Given the description of an element on the screen output the (x, y) to click on. 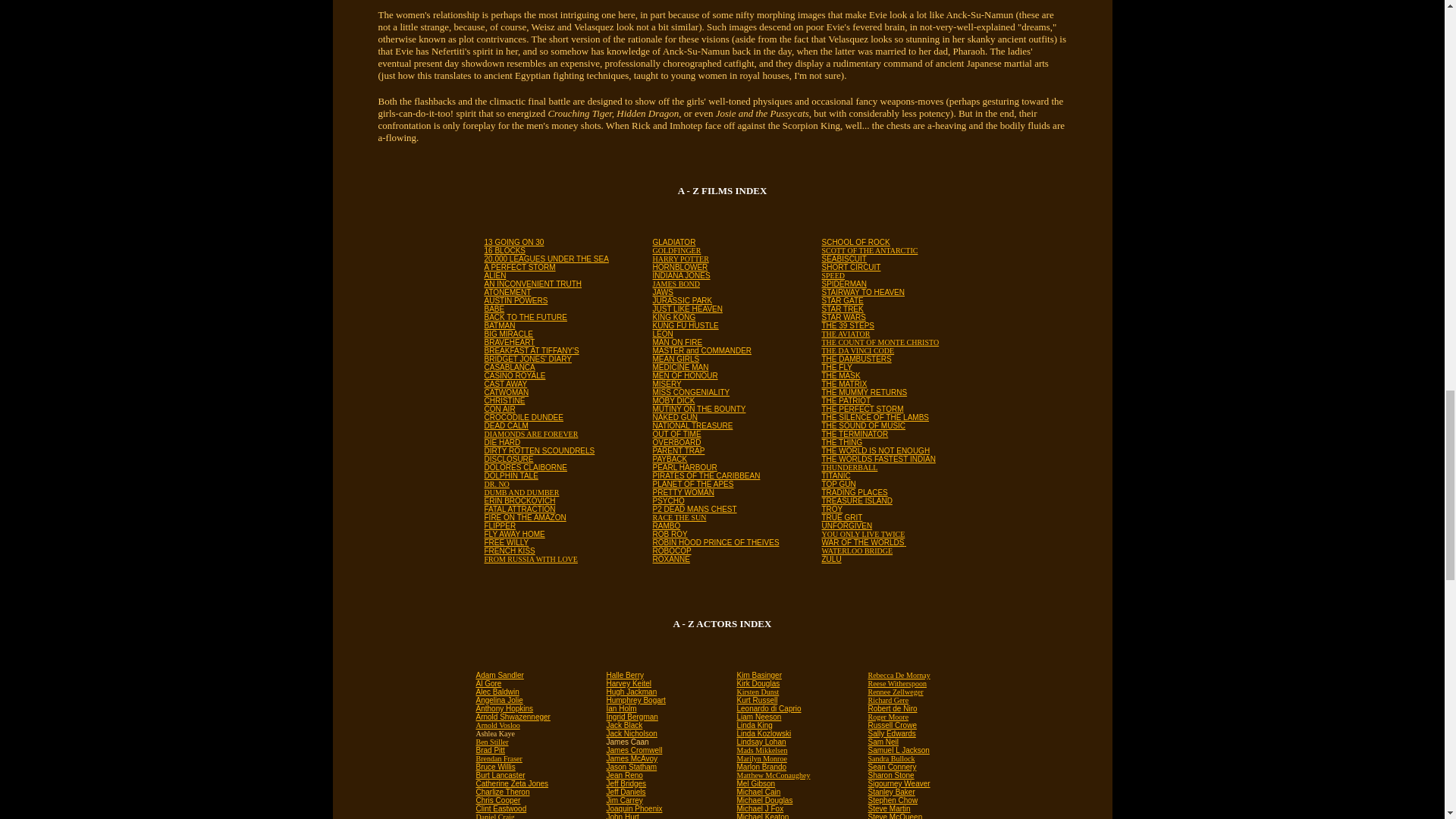
ALIEN (494, 273)
16 BLOCKS (503, 248)
13 GOING ON 30 (513, 240)
20,000 LEAGUES UNDER THE SEA (545, 256)
AUSTIN POWERS (515, 298)
A PERFECT STORM (518, 265)
BABE (493, 307)
BACK TO THE FUTURE (524, 315)
ATONEMENT (507, 290)
AN INCONVENIENT TRUTH (531, 282)
